Given the description of an element on the screen output the (x, y) to click on. 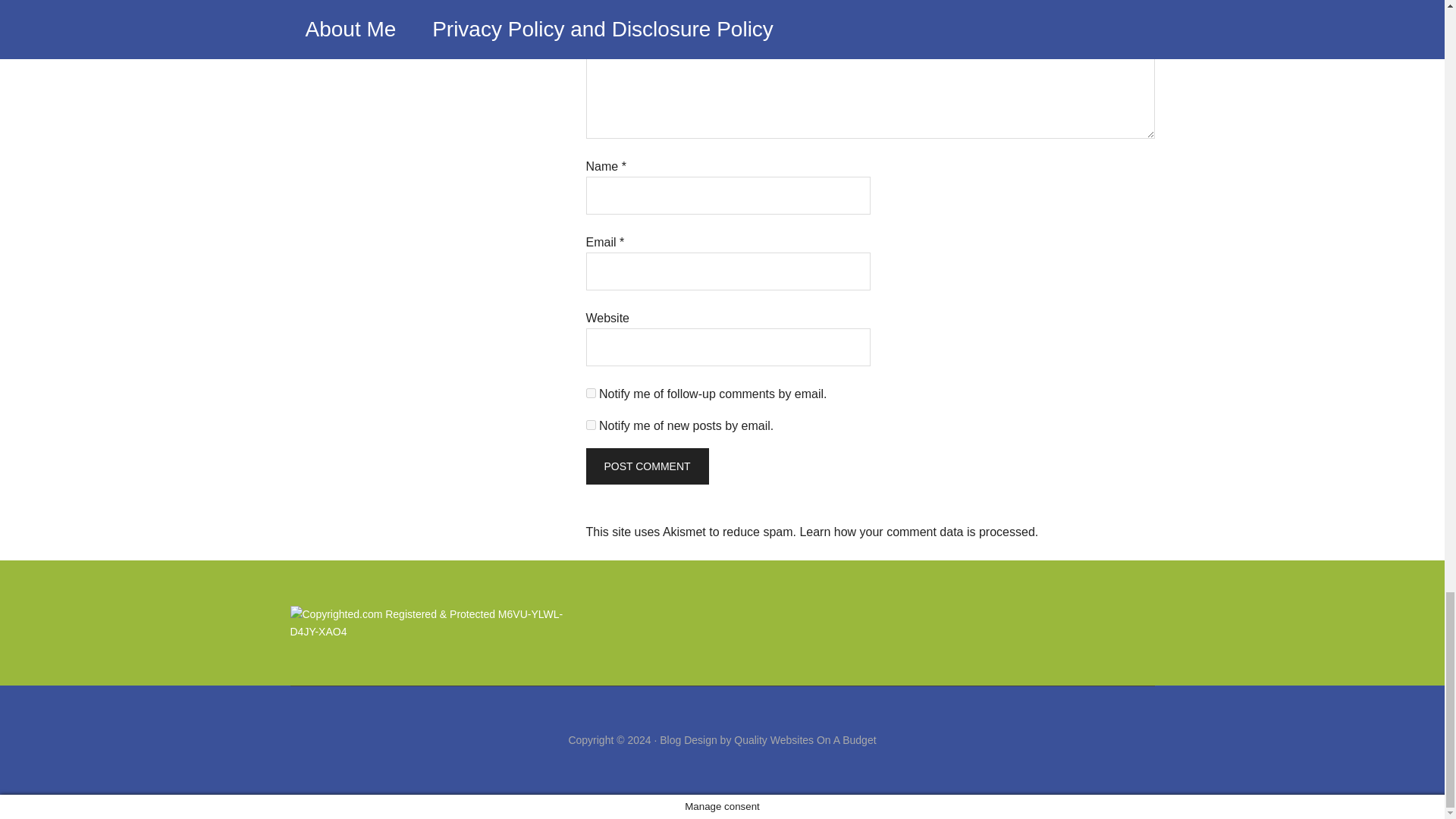
subscribe (590, 393)
Learn how your comment data is processed (916, 531)
Post Comment (646, 465)
subscribe (590, 424)
Post Comment (646, 465)
